Given the description of an element on the screen output the (x, y) to click on. 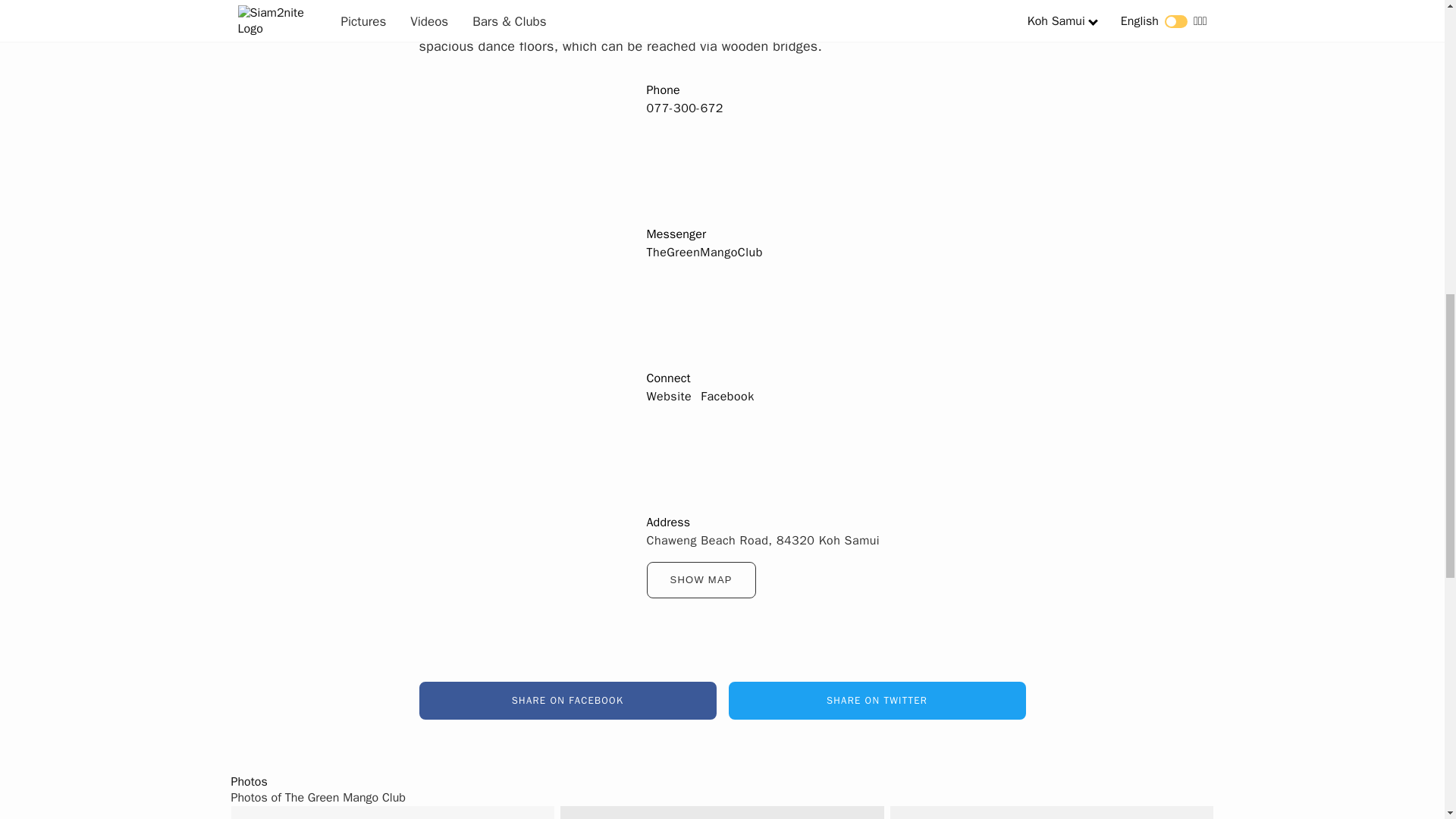
SHARE ON TWITTER (876, 700)
077-300-672 (684, 108)
SHARE ON FACEBOOK (567, 700)
Facebook (727, 396)
Website (668, 396)
TheGreenMangoClub (703, 252)
SHOW MAP (700, 579)
